Given the description of an element on the screen output the (x, y) to click on. 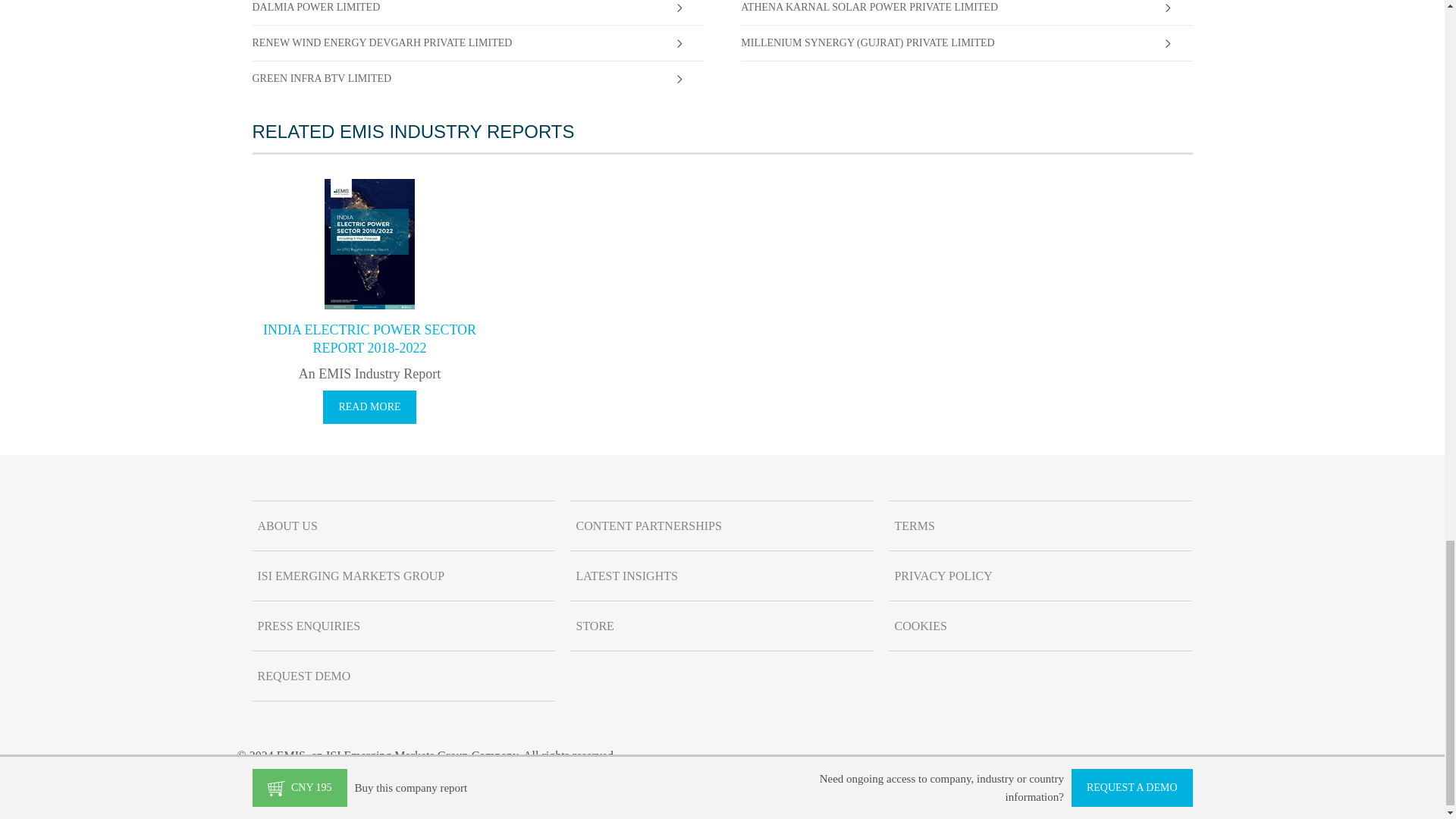
ISI Emerging Markets Group (402, 576)
Press Enquiries (402, 626)
India Electric Power Sector Report 2018-2022 (369, 336)
Request demo (402, 676)
Privacy Policy (1040, 576)
Content Partnerships (721, 525)
Store (721, 626)
India Electric Power Sector Report 2018-2022 (368, 407)
Latest Insights (721, 576)
Cookies (1040, 626)
About us (402, 525)
Terms (1040, 525)
